Given the description of an element on the screen output the (x, y) to click on. 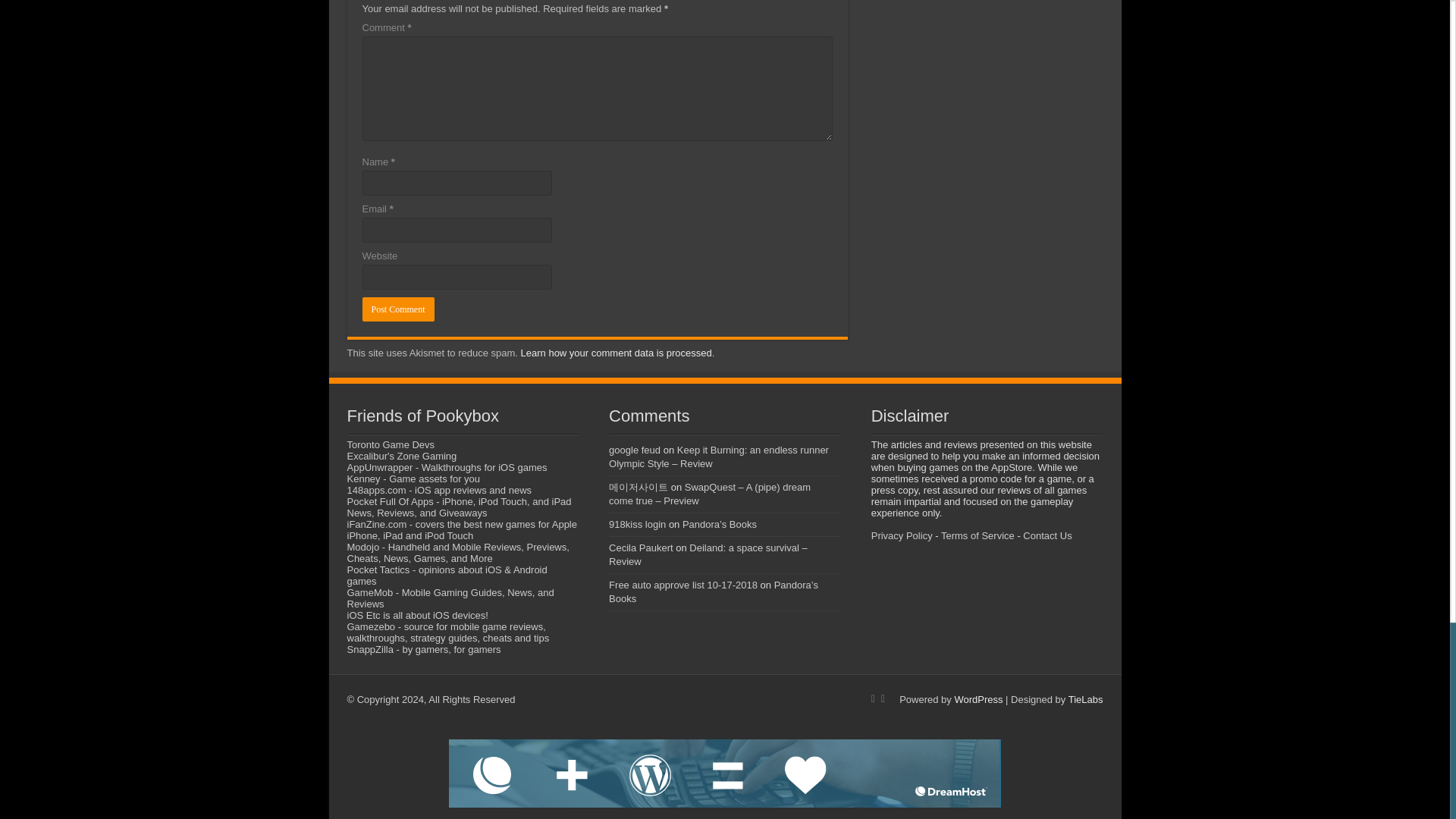
Post Comment (397, 309)
